Given the description of an element on the screen output the (x, y) to click on. 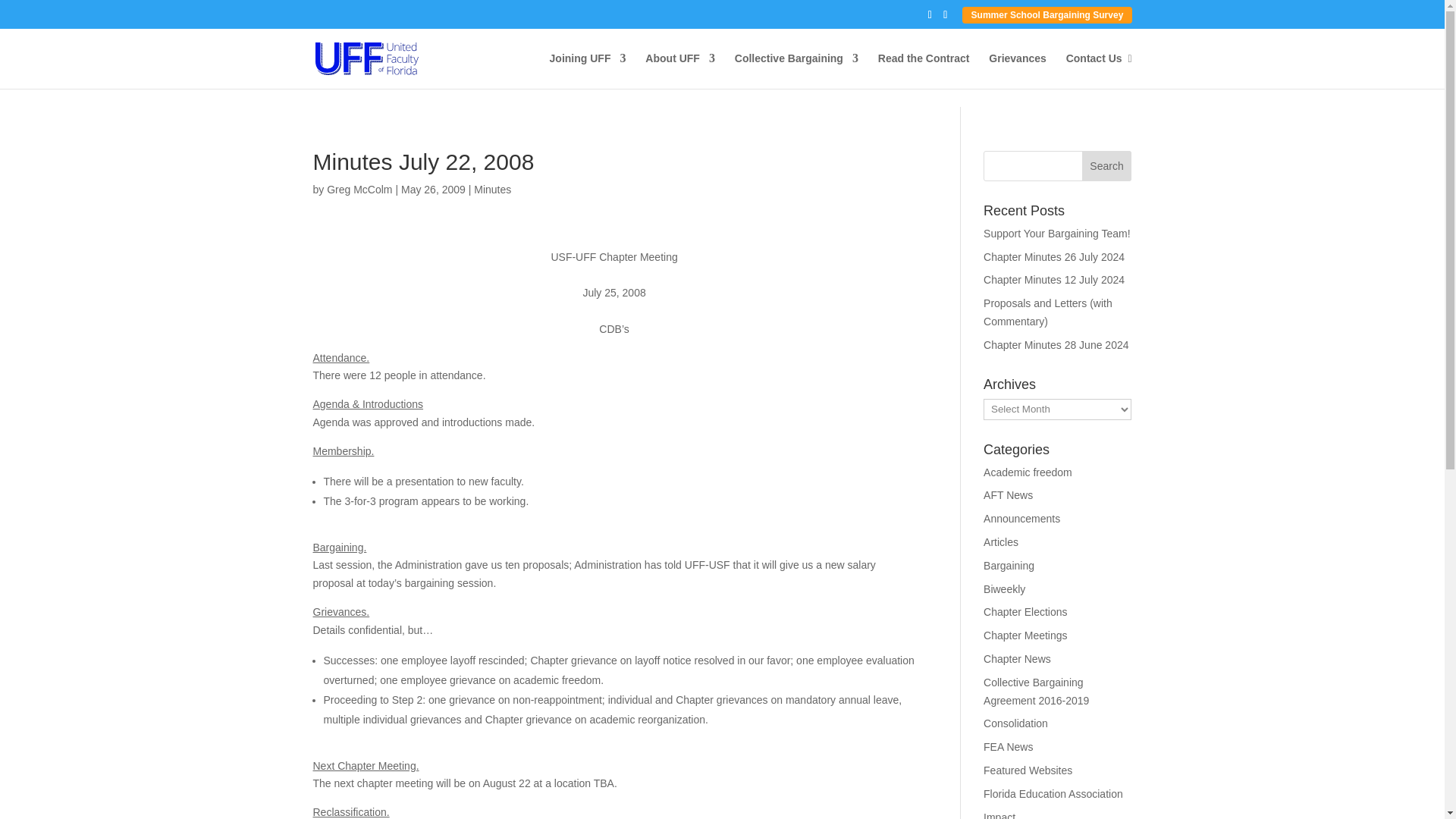
Grievances (1017, 70)
Minutes (492, 189)
Posts by Greg McColm (358, 189)
About UFF (679, 70)
Read the Contract (923, 70)
Greg McColm (358, 189)
Search (1106, 165)
Collective Bargaining (797, 70)
Search (1106, 165)
Joining UFF (588, 70)
Contact Us   (1098, 70)
Summer School Bargaining Survey (1046, 14)
